Given the description of an element on the screen output the (x, y) to click on. 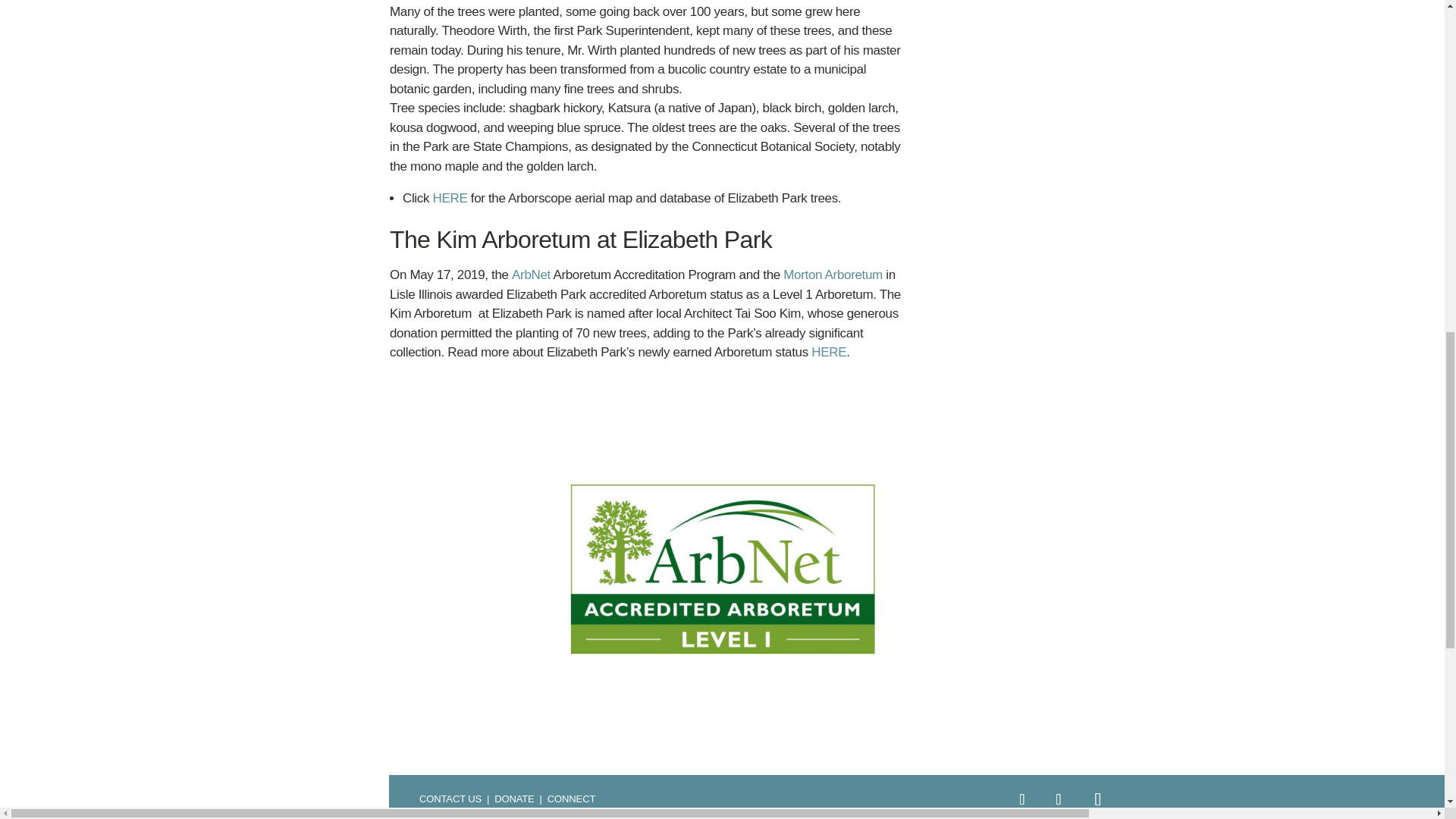
Follow on Facebook (1021, 798)
Follow on Instagram (1058, 798)
Follow on Youtube (1098, 799)
